Given the description of an element on the screen output the (x, y) to click on. 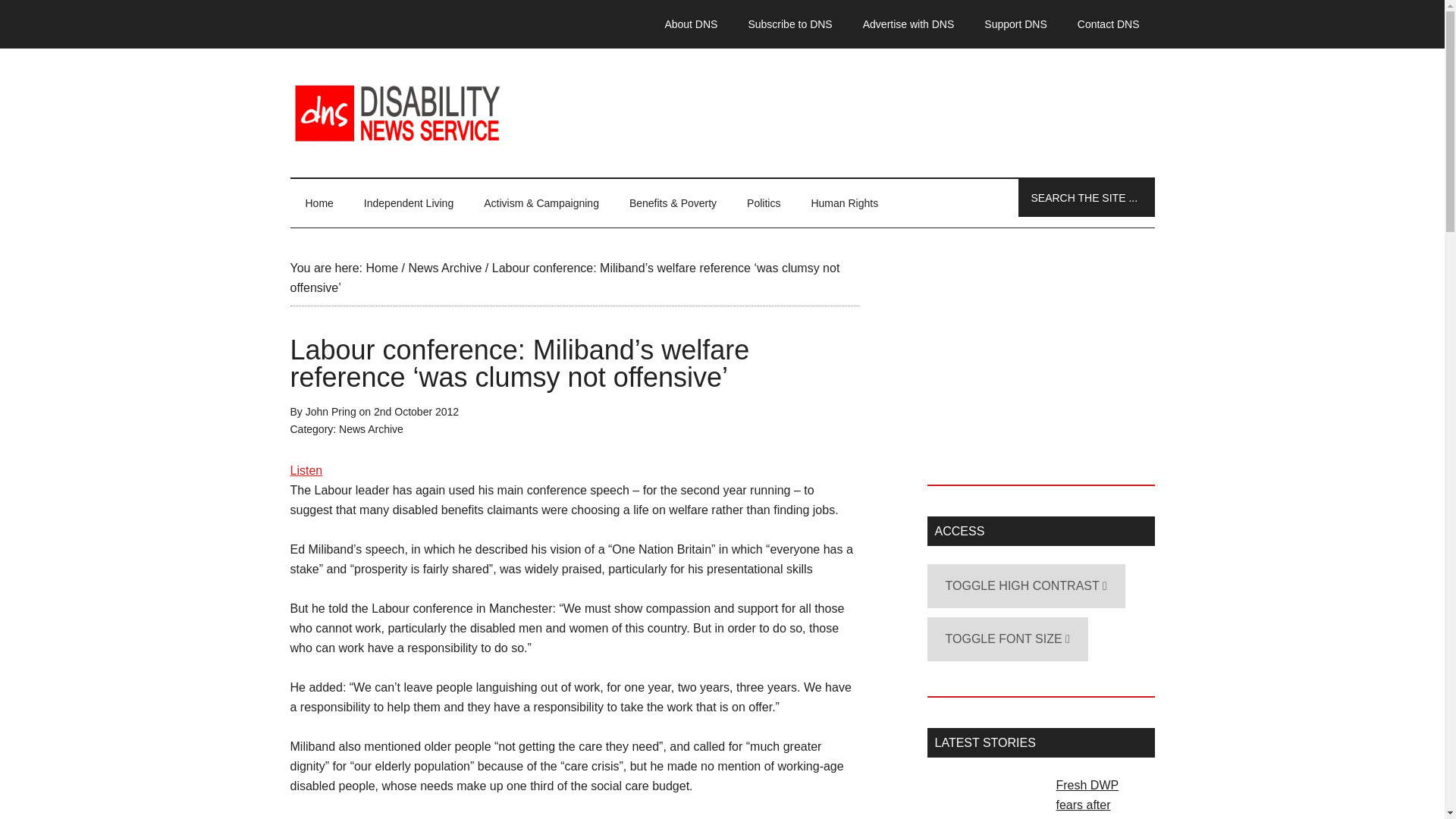
Independent Living (408, 203)
News Archive (444, 267)
Politics (763, 203)
Support DNS (1015, 24)
John Pring (330, 411)
Advertise with DNS (908, 24)
Home (381, 267)
Human Rights (843, 203)
About DNS (690, 24)
Home (318, 203)
Listen (305, 470)
Subscribe to DNS (789, 24)
Disability News Service (721, 112)
